Given the description of an element on the screen output the (x, y) to click on. 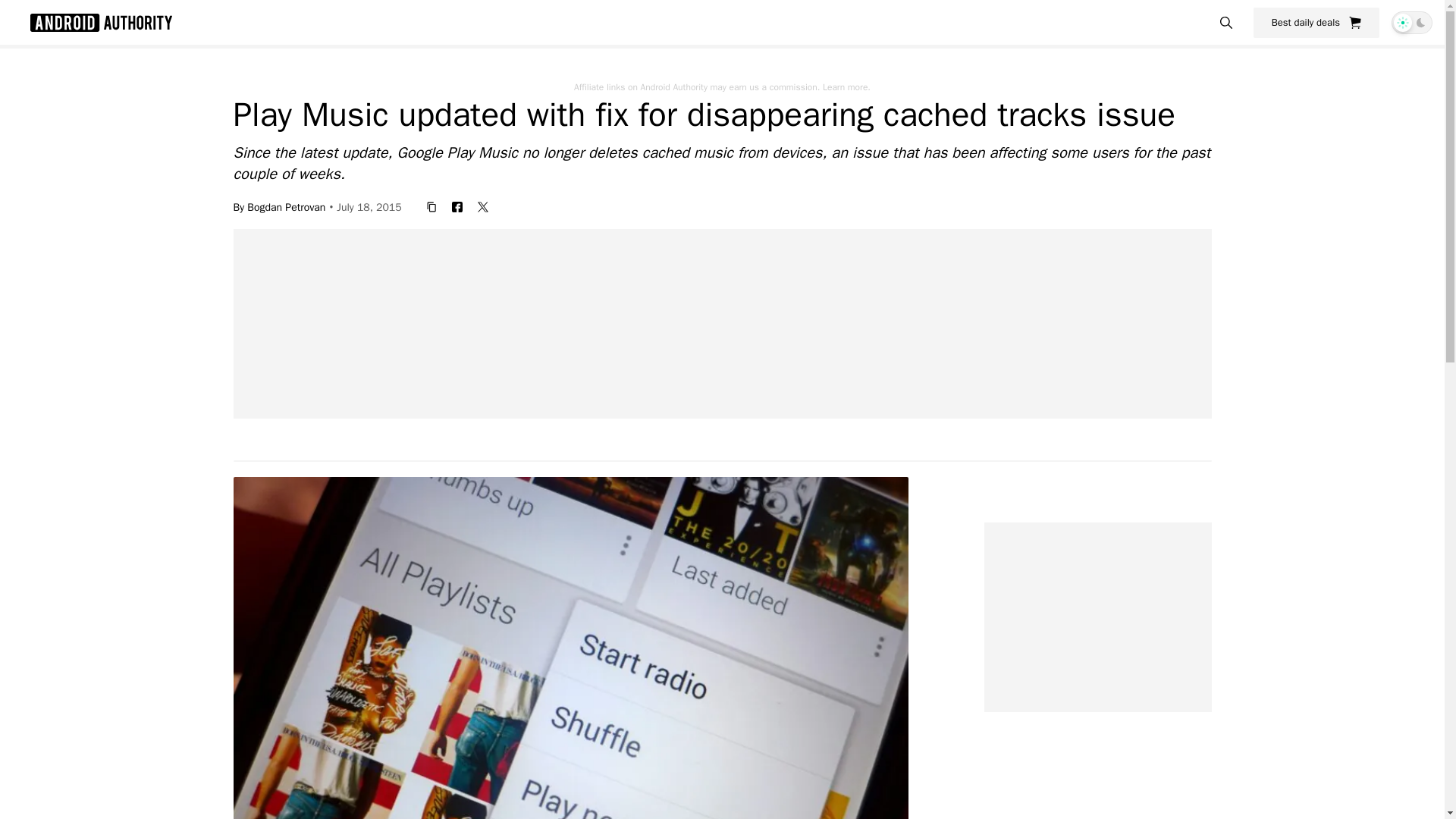
Learn more. (846, 86)
Bogdan Petrovan (285, 206)
twitter (483, 207)
Best daily deals (1315, 22)
facebook (457, 207)
